Given the description of an element on the screen output the (x, y) to click on. 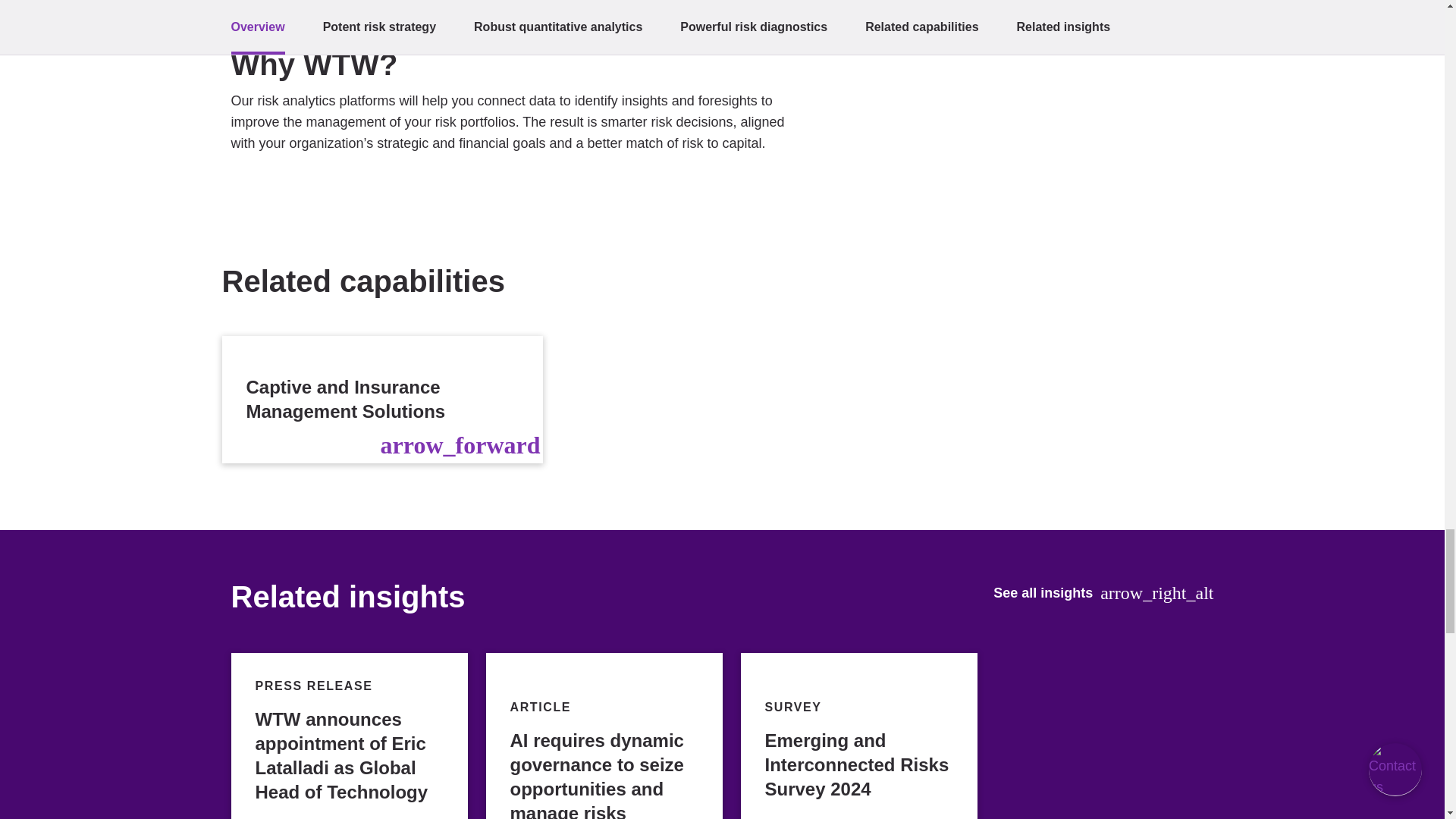
Captive and Insurance Management Solutions (382, 399)
